Given the description of an element on the screen output the (x, y) to click on. 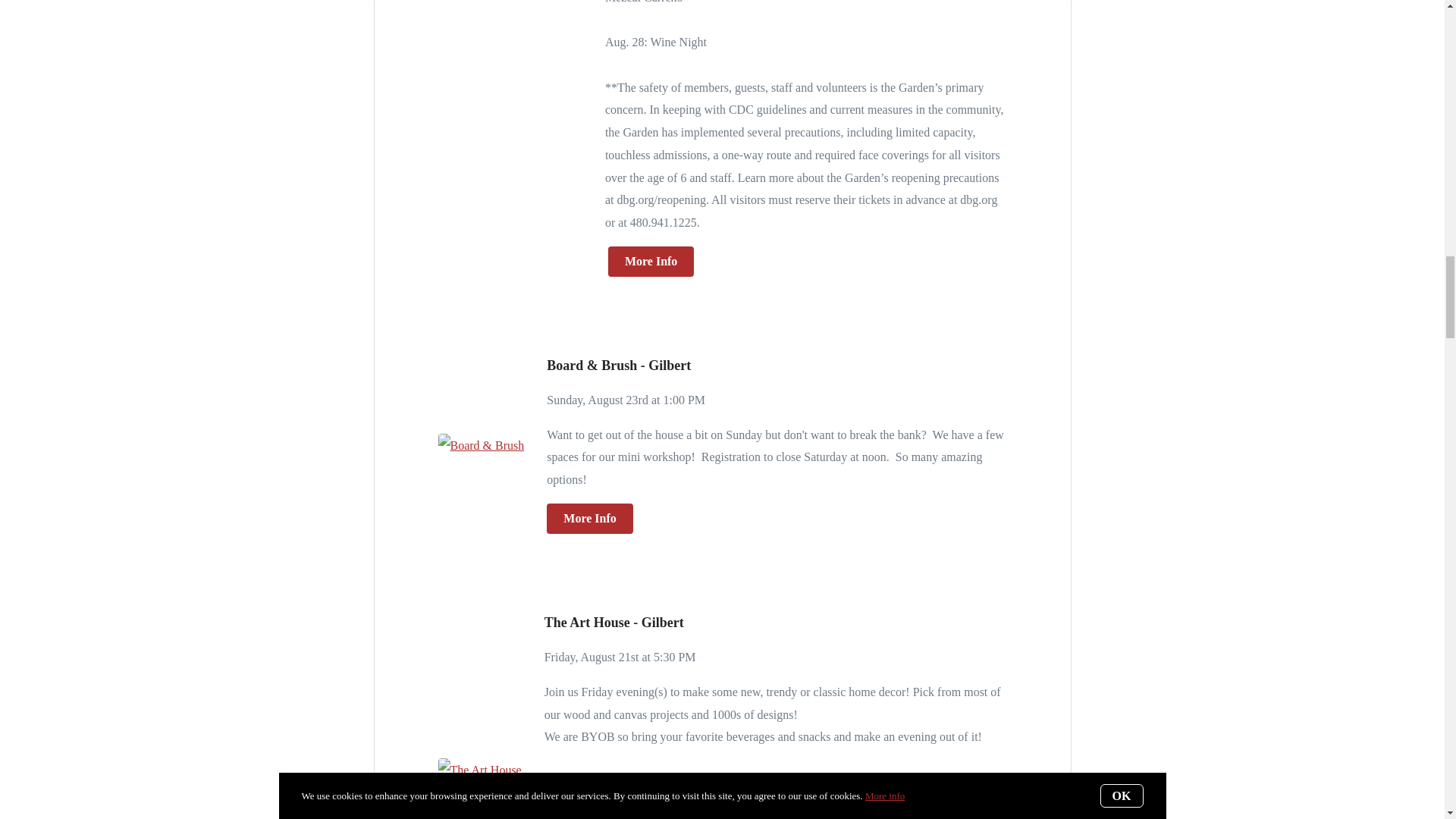
More Info (589, 518)
The Art House (479, 770)
More Info (651, 261)
